Given the description of an element on the screen output the (x, y) to click on. 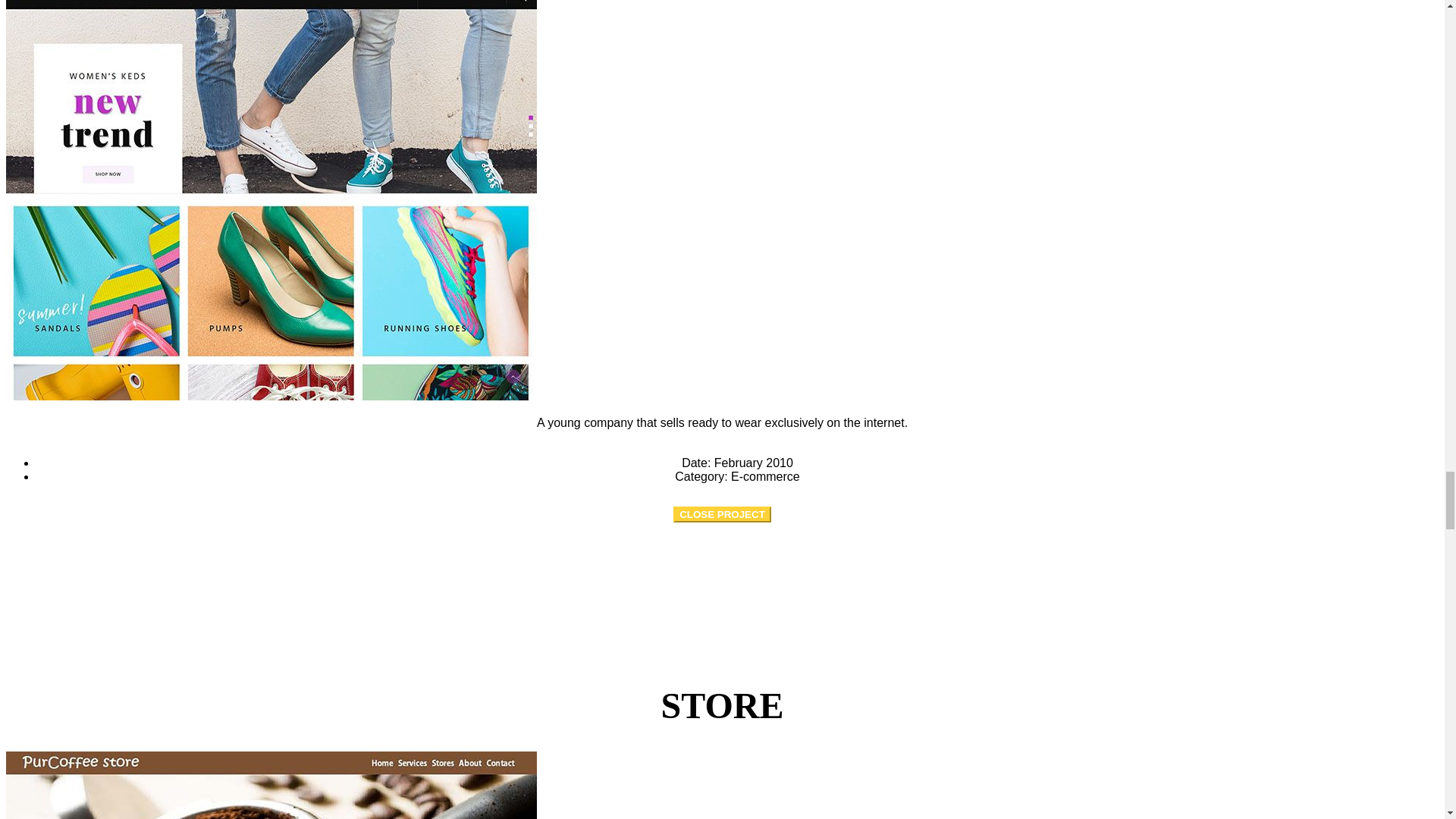
CLOSE PROJECT (721, 514)
